Given the description of an element on the screen output the (x, y) to click on. 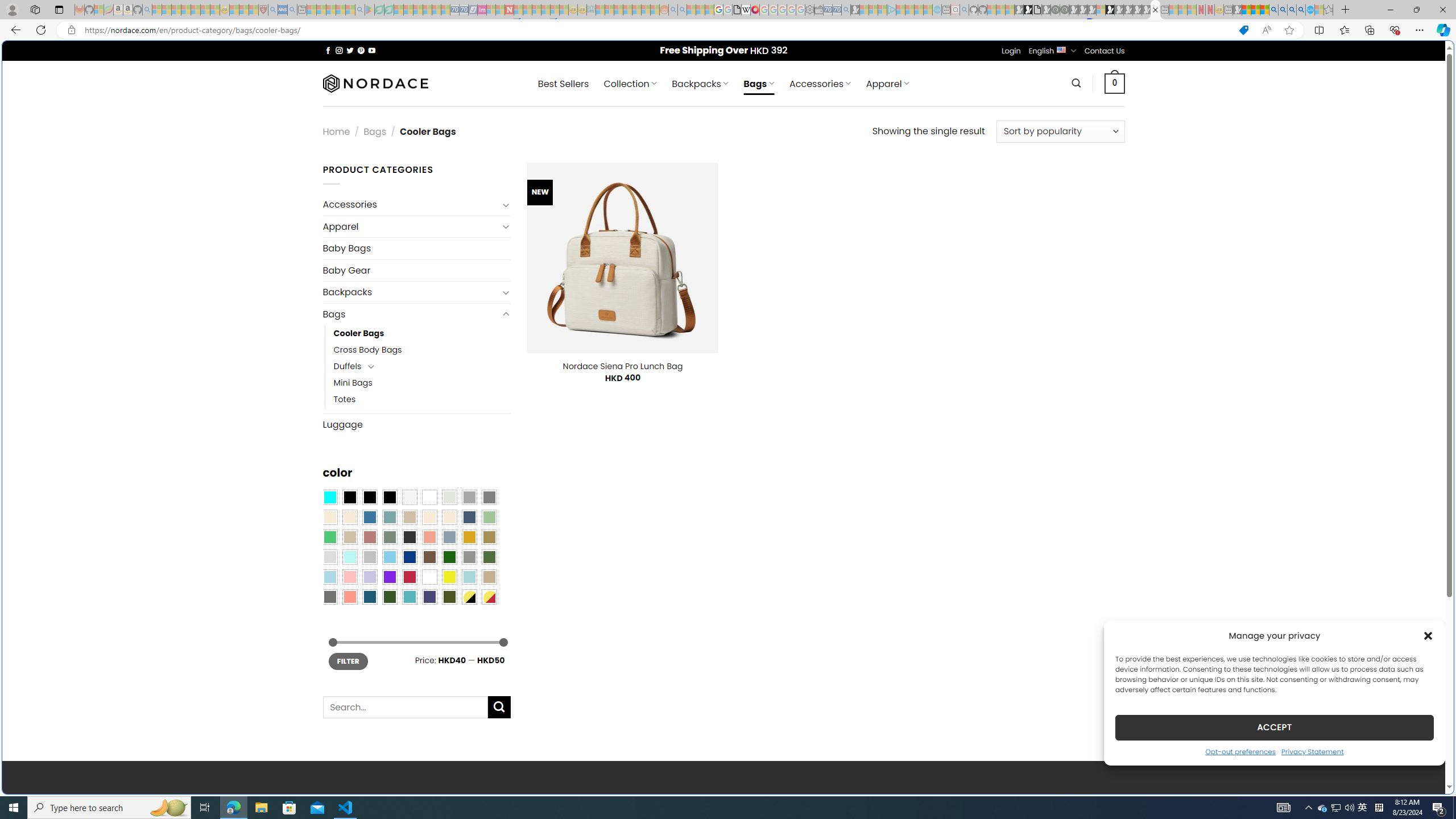
Khaki (488, 577)
Green (488, 557)
Target page - Wikipedia (745, 9)
Duffels (347, 366)
